Given the description of an element on the screen output the (x, y) to click on. 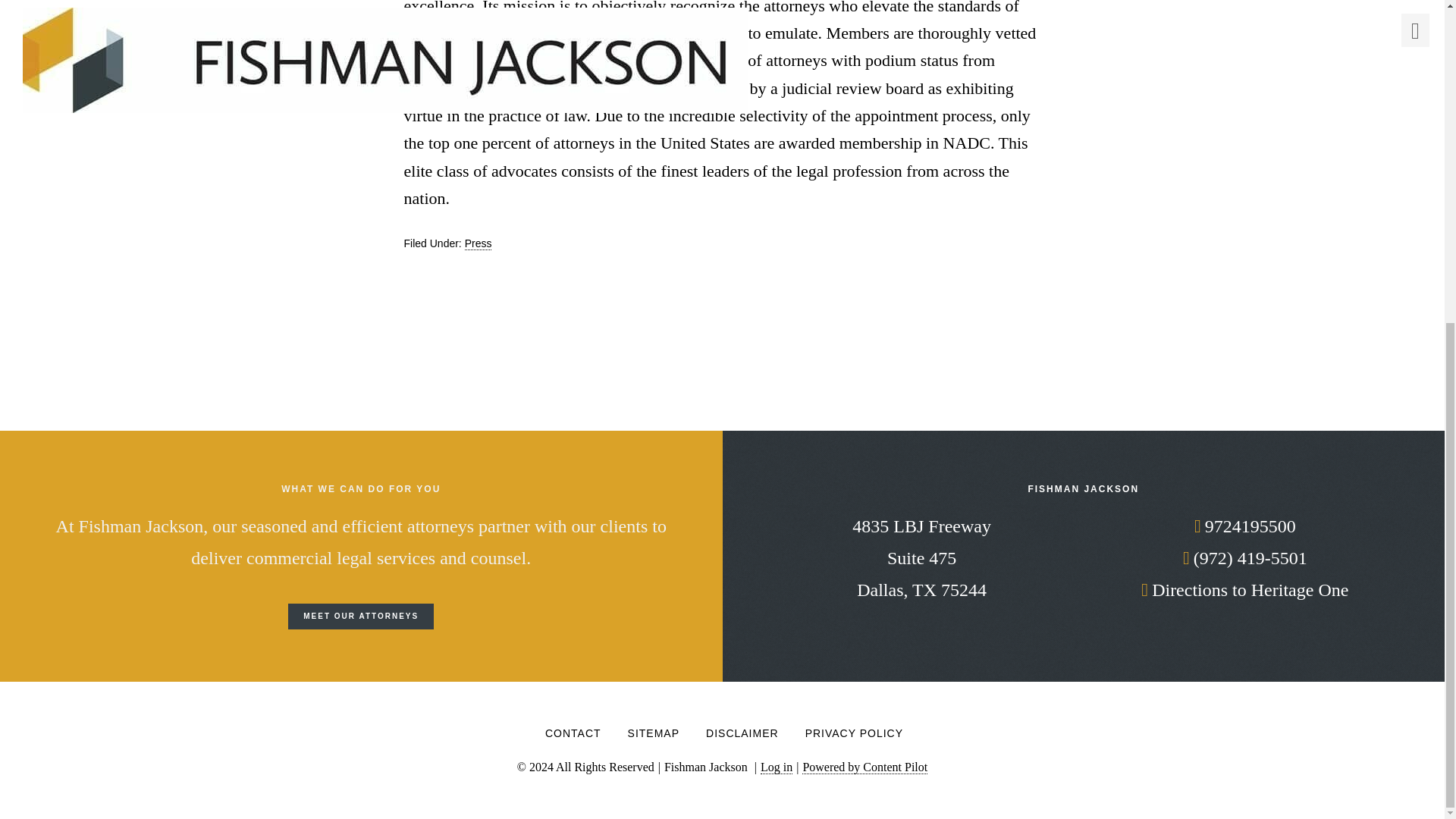
PRIVACY POLICY (854, 737)
Powered by Content Pilot (864, 766)
DISCLAIMER (741, 737)
9724195500 (1244, 526)
CONTACT (572, 737)
Directions to Heritage One (1244, 589)
Log in (776, 766)
Press (921, 558)
MEET OUR ATTORNEYS (478, 243)
SITEMAP (360, 616)
